Given the description of an element on the screen output the (x, y) to click on. 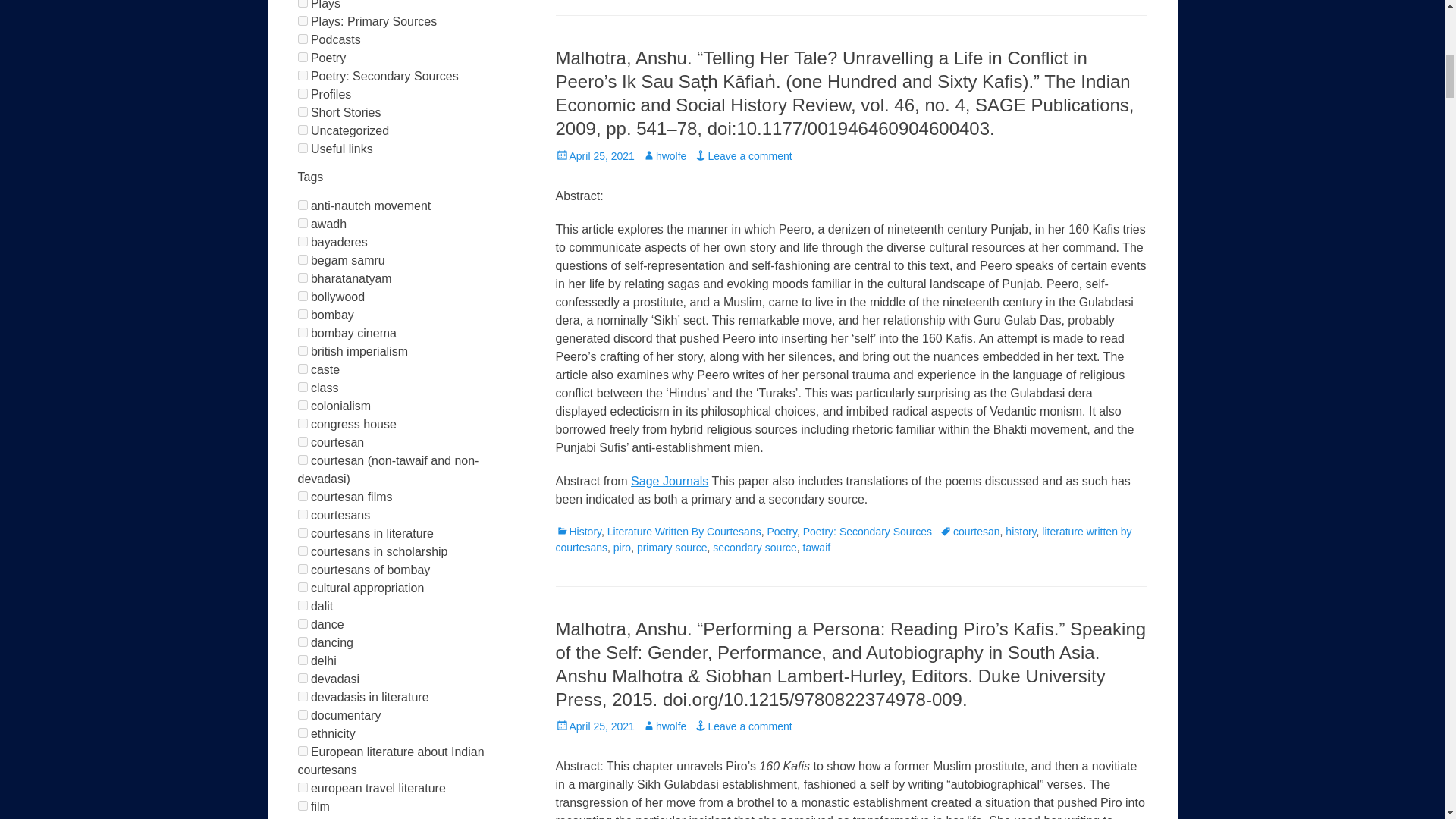
130 (302, 20)
April 25, 2021 (593, 155)
46 (302, 57)
hwolfe (663, 155)
History (577, 530)
146 (302, 39)
74 (302, 3)
Sage Journals (668, 481)
Leave a comment (743, 155)
